Given the description of an element on the screen output the (x, y) to click on. 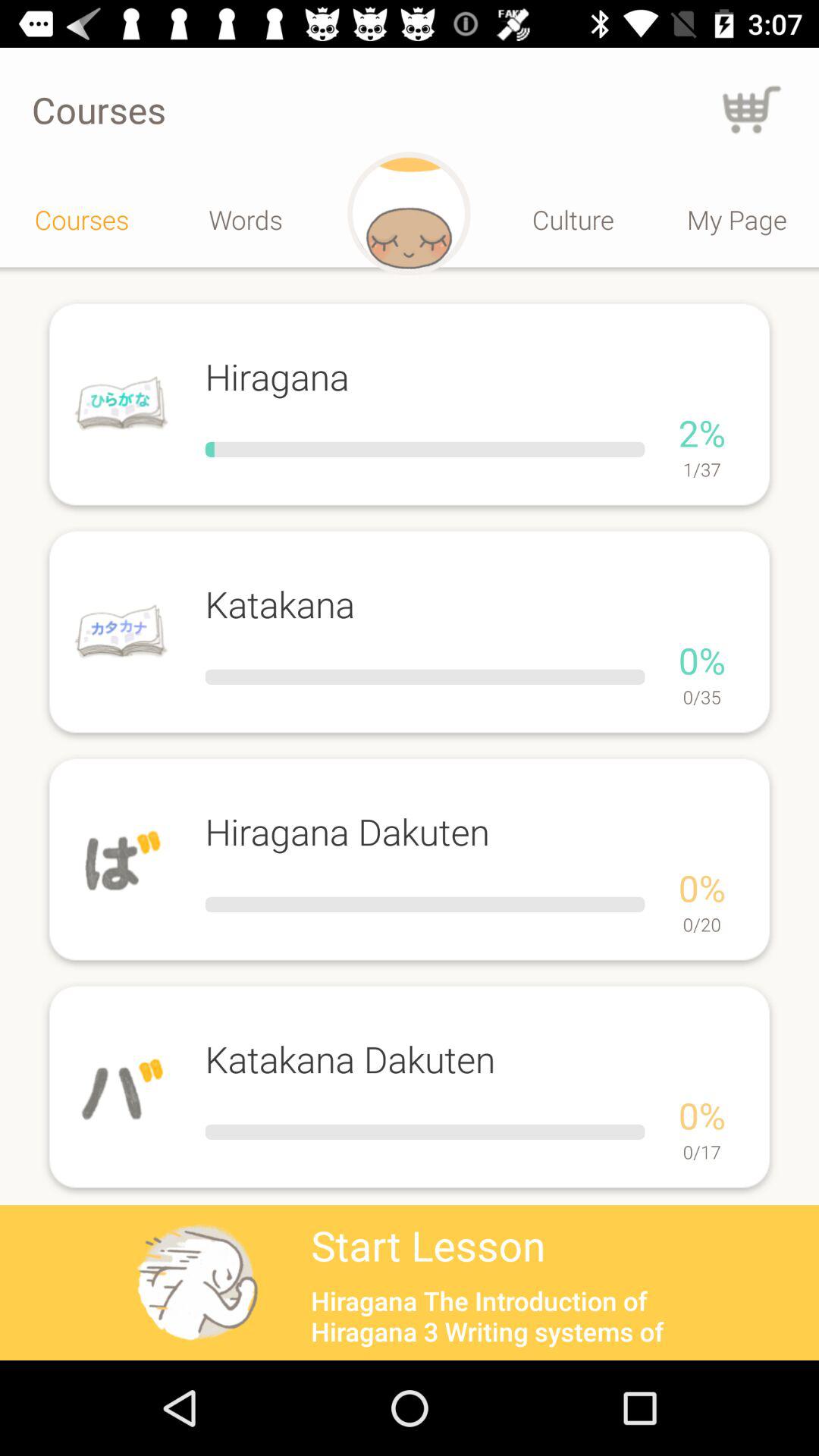
open shopping cart (751, 109)
